Given the description of an element on the screen output the (x, y) to click on. 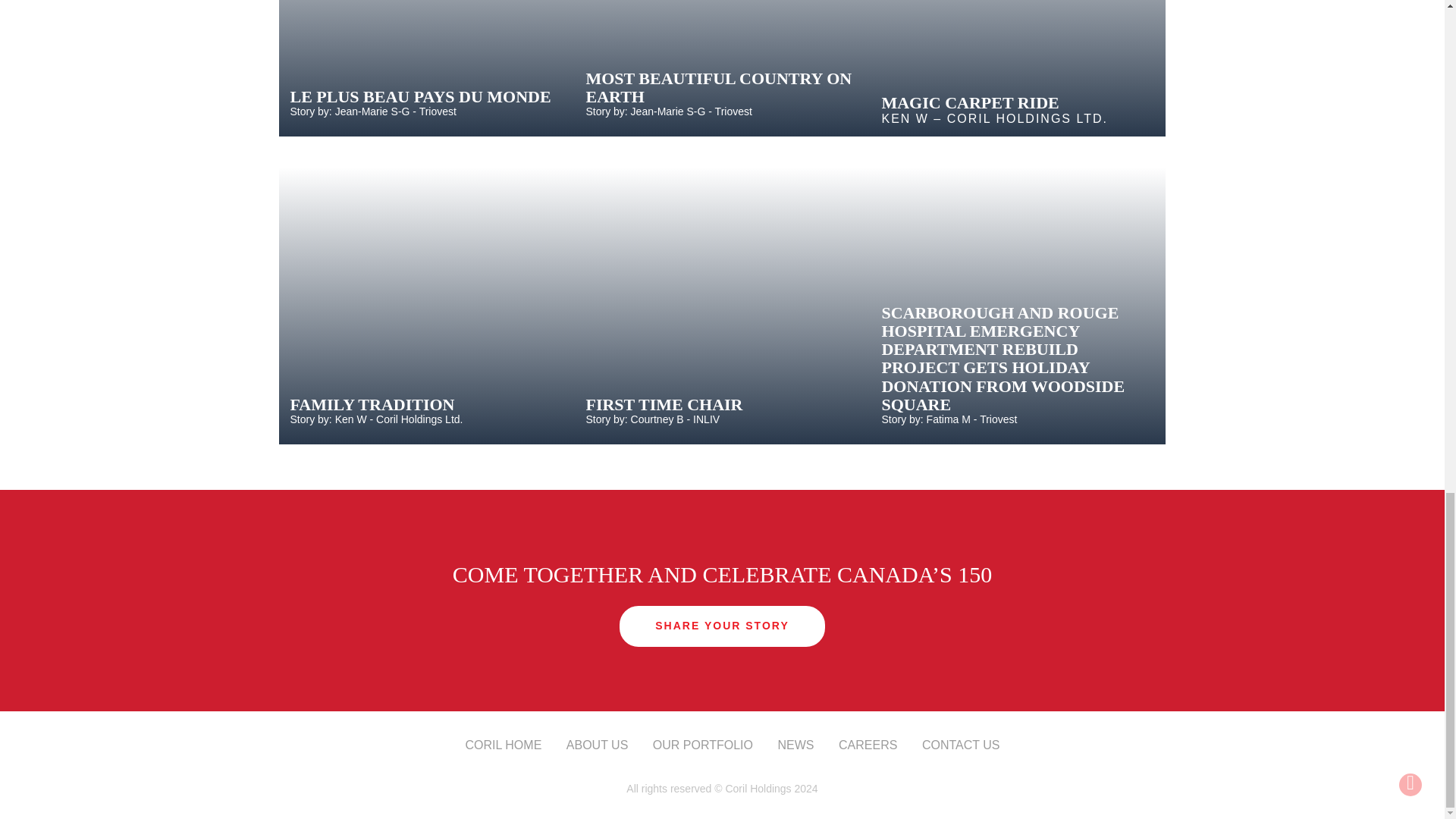
NEWS (795, 744)
ABOUT US (597, 744)
CORIL HOME (503, 744)
CONTACT US (960, 744)
OUR PORTFOLIO (702, 744)
SHARE YOUR STORY (722, 626)
CAREERS (867, 744)
